Given the description of an element on the screen output the (x, y) to click on. 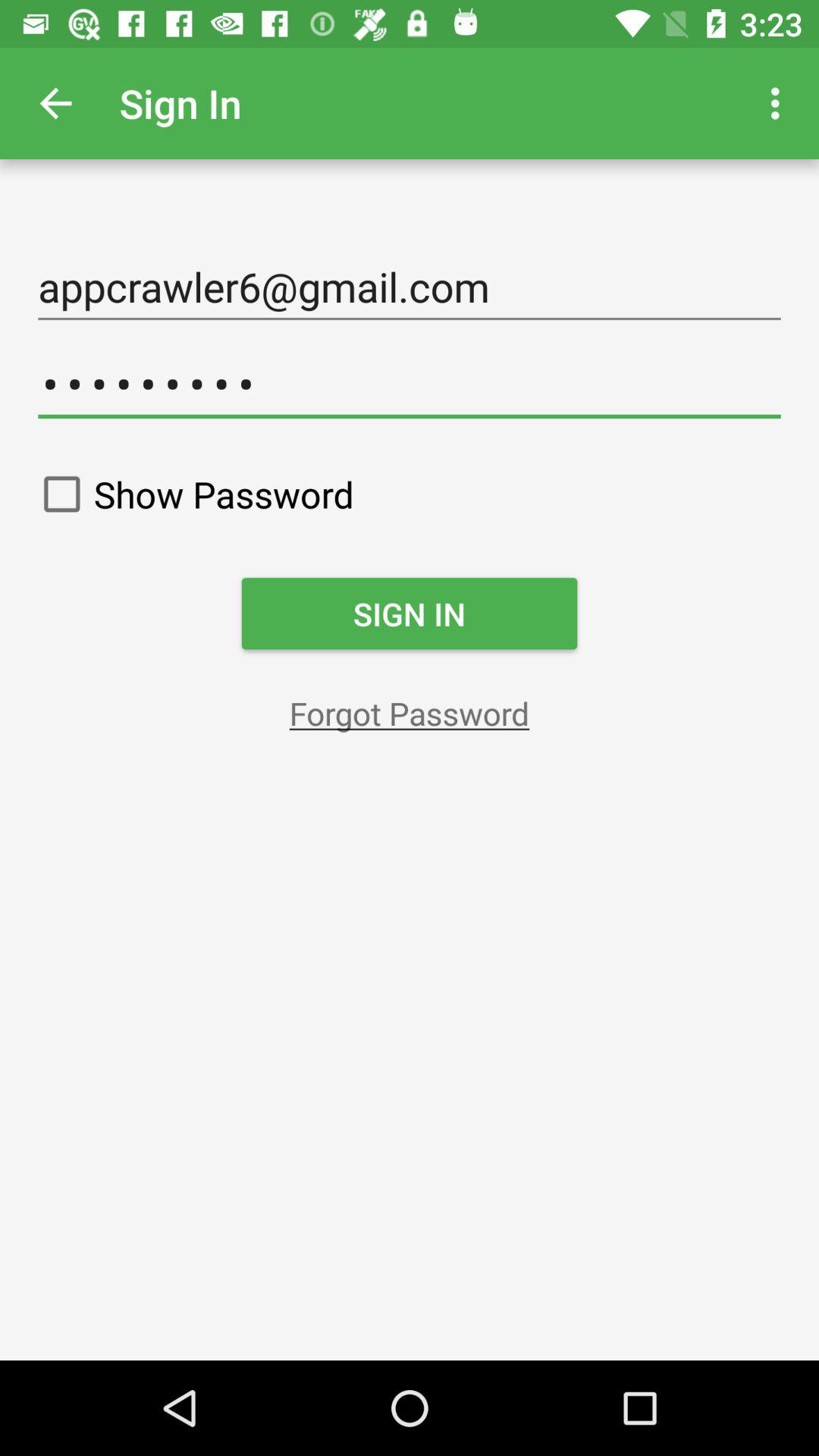
click icon at the top right corner (779, 103)
